Given the description of an element on the screen output the (x, y) to click on. 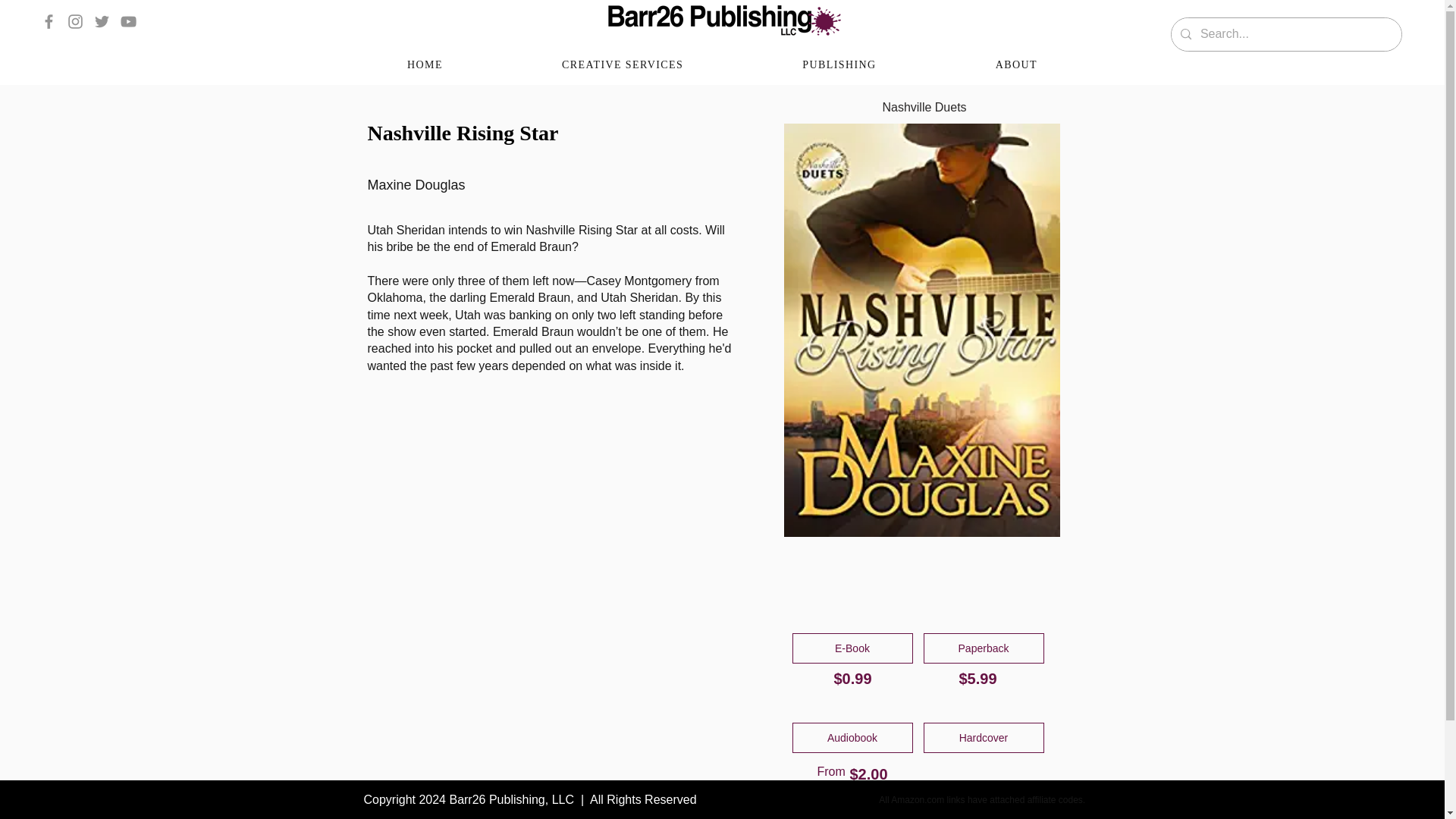
HOME (424, 65)
Paperback (983, 648)
nashville rising star.webp (921, 330)
ABOUT (1016, 65)
PUBLISHING (839, 65)
Audiobook (852, 737)
CREATIVE SERVICES (622, 65)
Maxine Douglas (545, 185)
Nashville Duets (924, 107)
E-Book (852, 648)
